Given the description of an element on the screen output the (x, y) to click on. 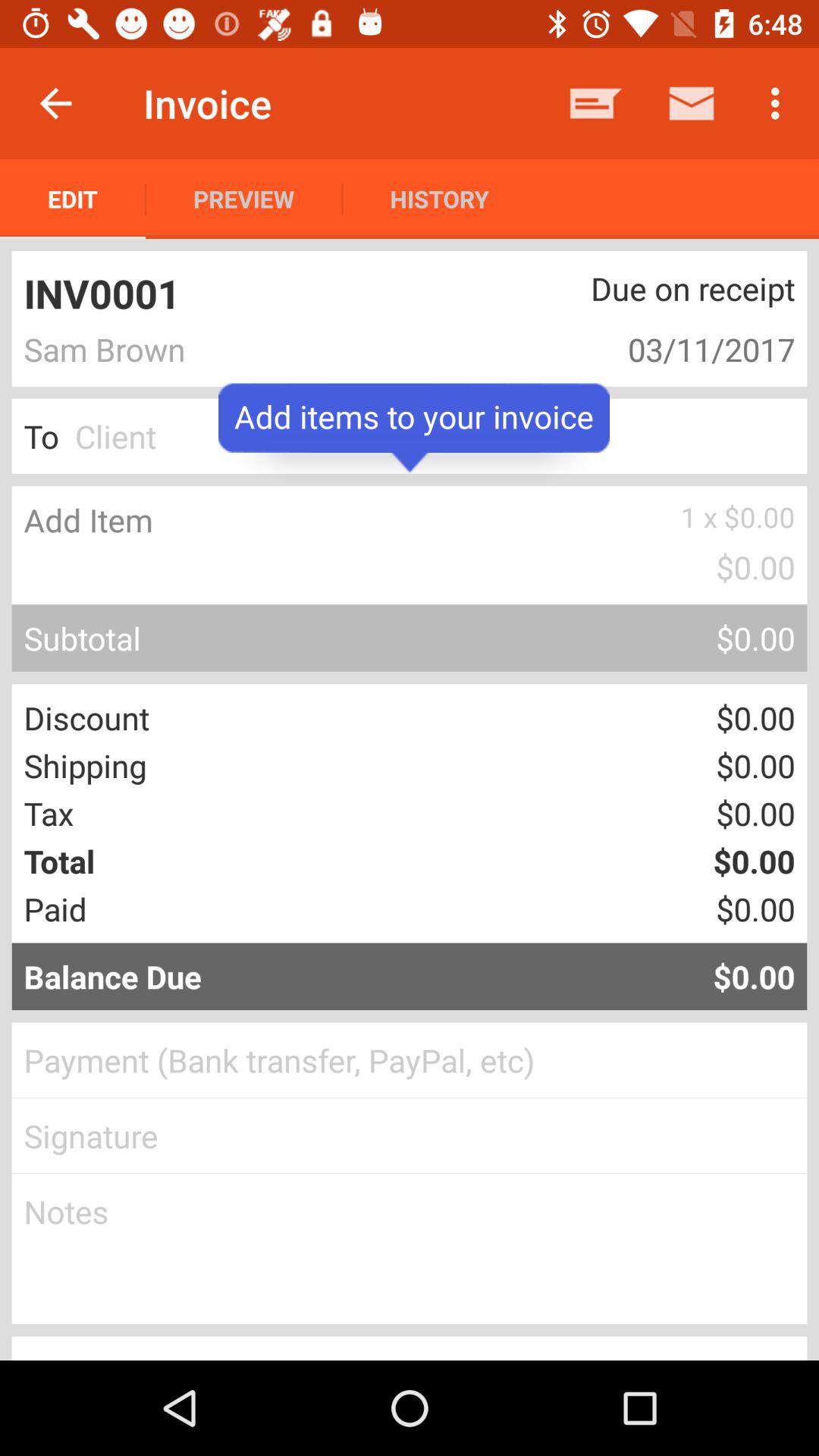
select the date below due on receipt (640, 349)
